Given the description of an element on the screen output the (x, y) to click on. 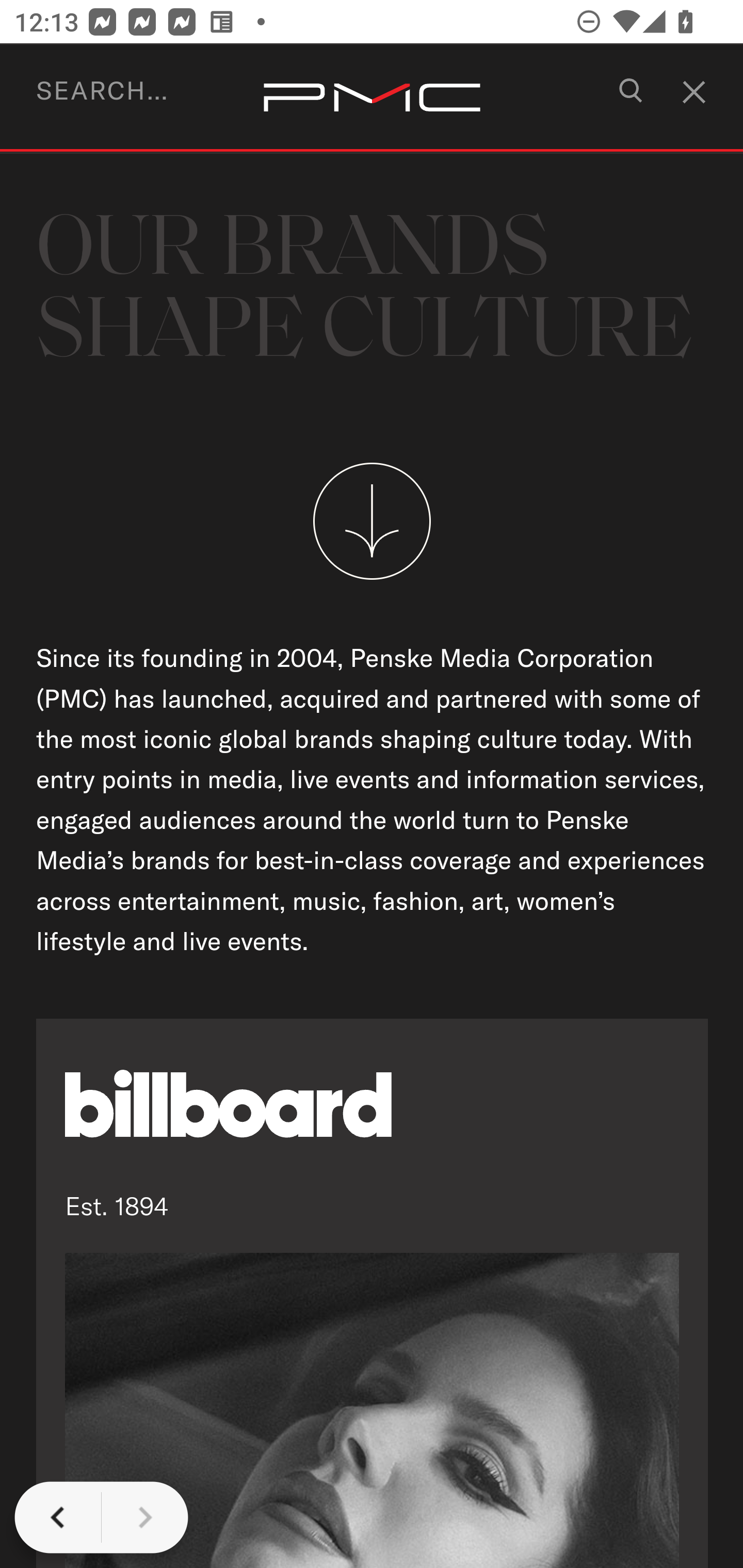
home (371, 98)
# (685, 85)
BRANDS (105, 96)
# (633, 98)
Est. 1894 Est. 1894 (372, 1292)
